Given the description of an element on the screen output the (x, y) to click on. 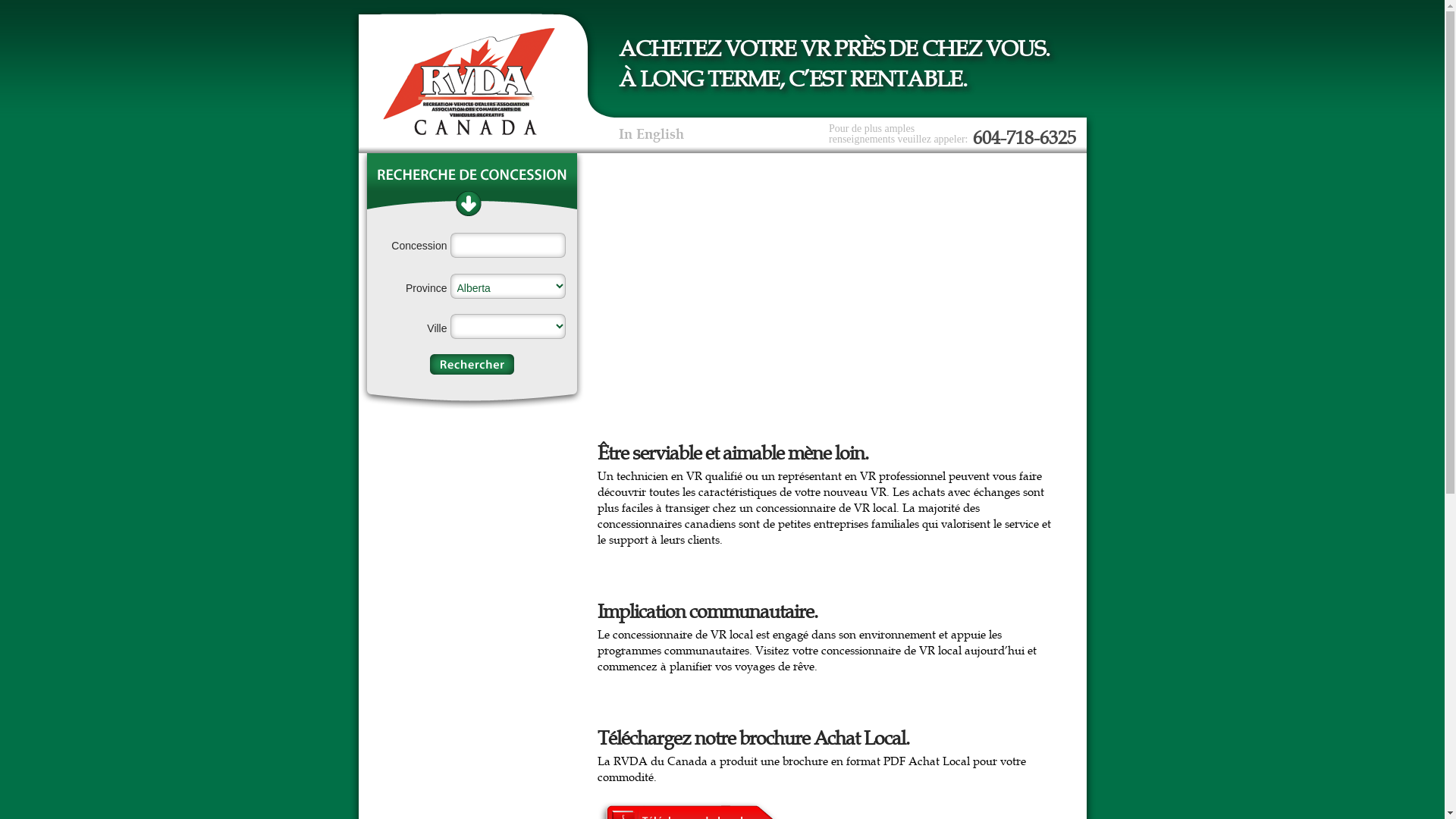
In English Element type: text (651, 133)
RVDA of Canada Element type: hover (468, 81)
  Element type: text (471, 364)
